Given the description of an element on the screen output the (x, y) to click on. 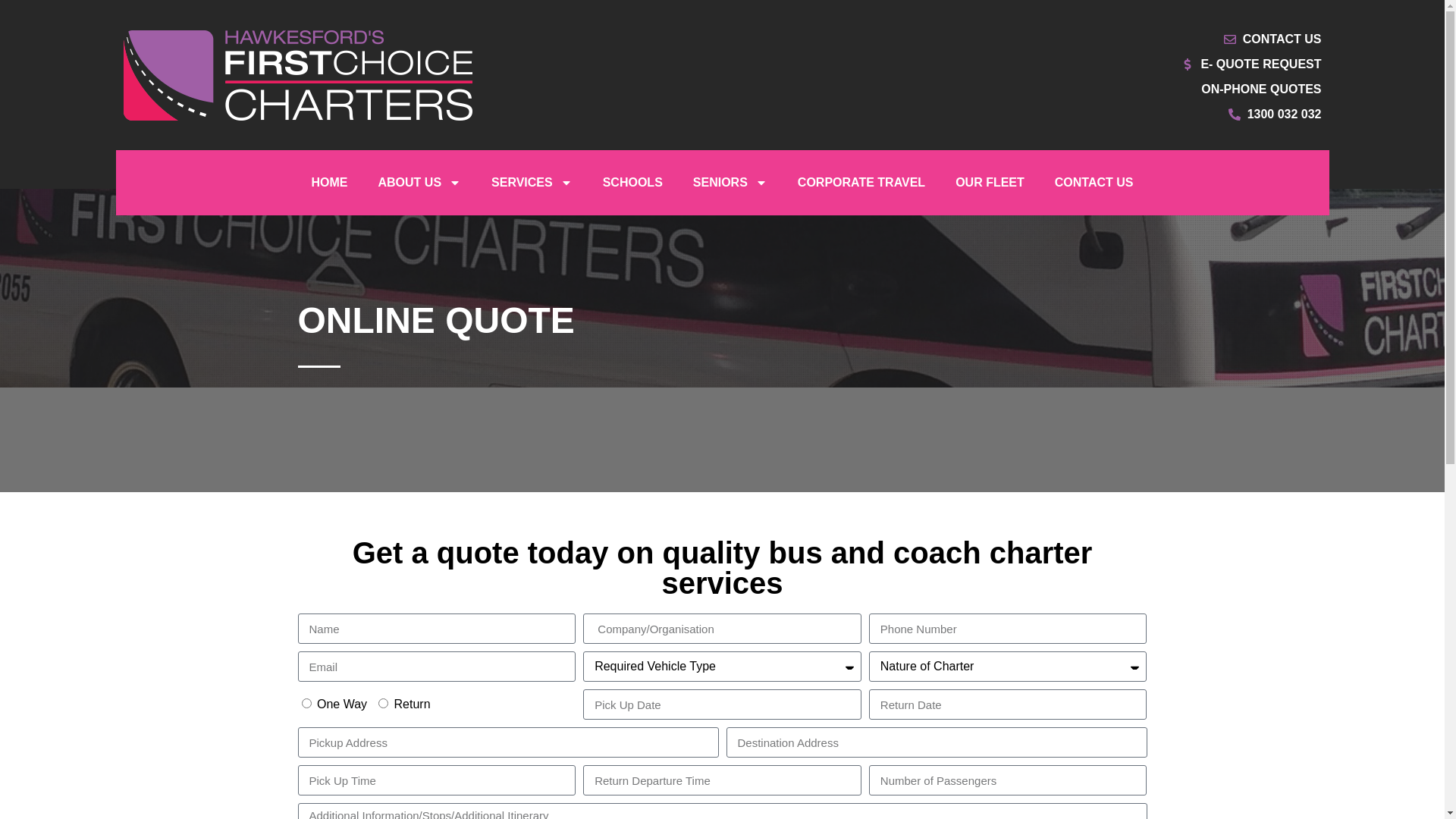
1300 032 032 Element type: text (1025, 114)
SERVICES Element type: text (531, 182)
CORPORATE TRAVEL Element type: text (861, 182)
E- QUOTE REQUEST Element type: text (1025, 64)
CONTACT US Element type: text (1093, 182)
CONTACT US Element type: text (1025, 39)
SCHOOLS Element type: text (632, 182)
OUR FLEET Element type: text (989, 182)
SENIORS Element type: text (729, 182)
ABOUT US Element type: text (419, 182)
HOME Element type: text (328, 182)
